Given the description of an element on the screen output the (x, y) to click on. 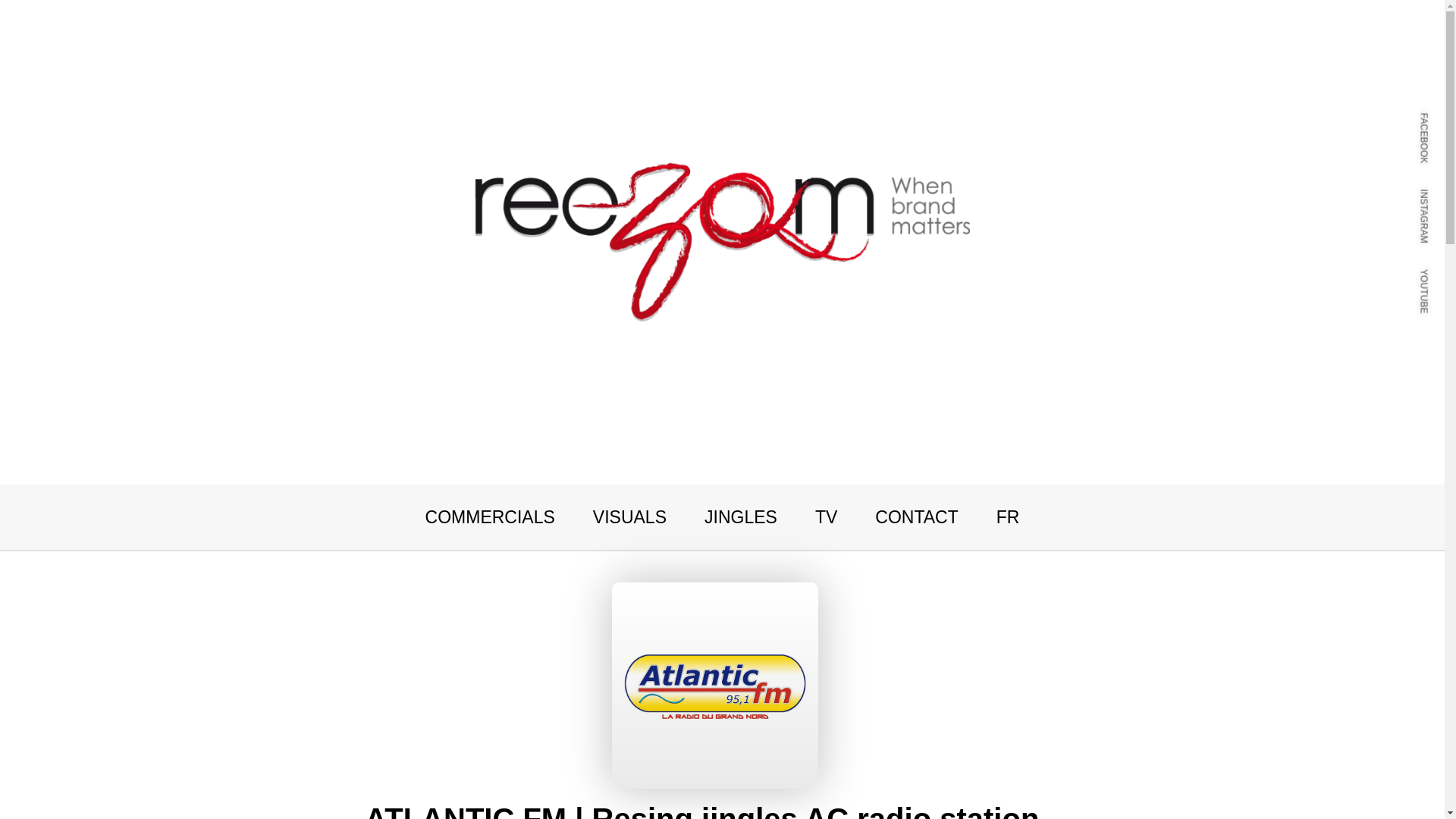
JINGLES (740, 516)
FR (1007, 516)
CONTACT (916, 516)
TV (826, 516)
VISUALS (629, 516)
Jingles-chantes-repiquage-resing-atlantic-martinique.png (713, 685)
COMMERCIALS (489, 516)
